Given the description of an element on the screen output the (x, y) to click on. 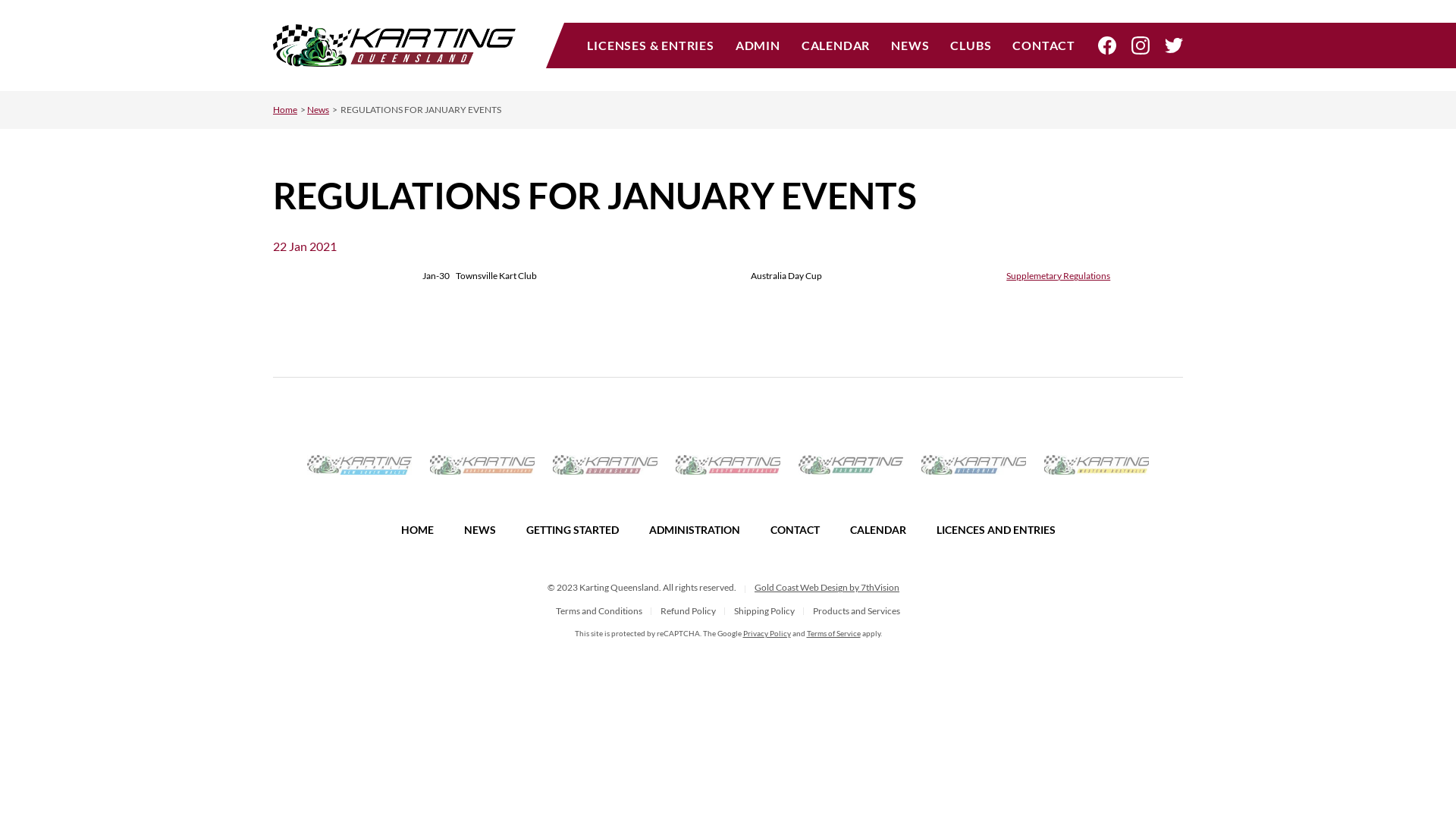
CALENDAR Element type: text (835, 45)
Home Element type: text (285, 109)
CONTACT Element type: text (1038, 45)
GETTING STARTED Element type: text (572, 529)
Products and Services Element type: text (856, 610)
HOME Element type: text (416, 529)
NEWS Element type: text (479, 529)
Terms of Service Element type: text (833, 632)
Privacy Policy Element type: text (766, 632)
LICENSES & ENTRIES Element type: text (655, 45)
CONTACT Element type: text (794, 529)
Shipping Policy Element type: text (764, 610)
Refund Policy Element type: text (687, 610)
ADMIN Element type: text (757, 45)
NEWS Element type: text (909, 45)
Supplemetary Regulations Element type: text (1058, 275)
Gold Coast Web Design by 7thVision Element type: text (826, 587)
LICENCES AND ENTRIES Element type: text (994, 529)
ADMINISTRATION Element type: text (694, 529)
Terms and Conditions Element type: text (598, 610)
News Element type: text (318, 109)
CALENDAR Element type: text (877, 529)
CLUBS Element type: text (970, 45)
